Given the description of an element on the screen output the (x, y) to click on. 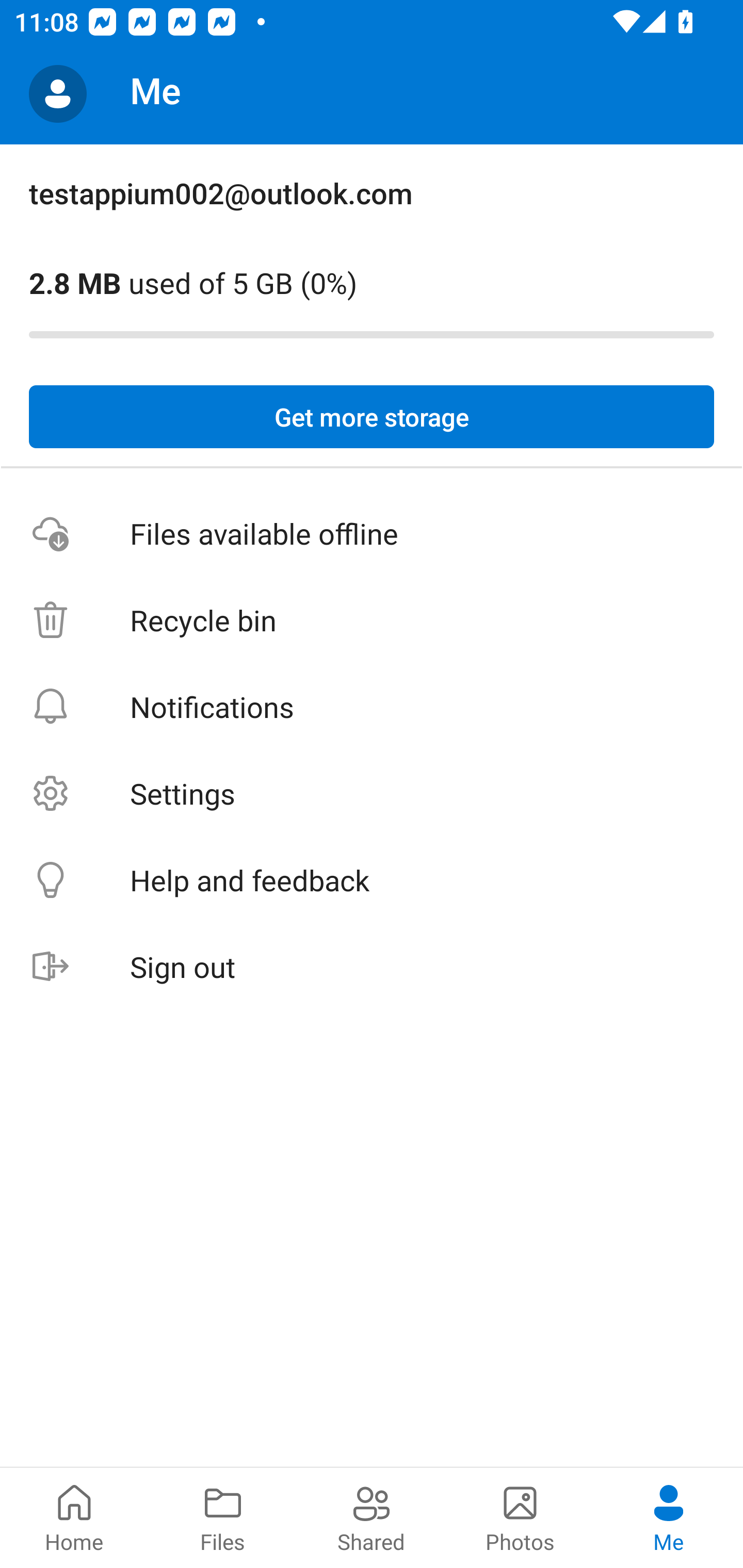
Account switcher (57, 93)
Get more storage (371, 416)
Files available offline (371, 533)
Recycle bin (371, 620)
Notifications (371, 706)
Settings (371, 793)
Help and feedback (371, 880)
Sign out (371, 966)
Home pivot Home (74, 1517)
Files pivot Files (222, 1517)
Shared pivot Shared (371, 1517)
Photos pivot Photos (519, 1517)
